Given the description of an element on the screen output the (x, y) to click on. 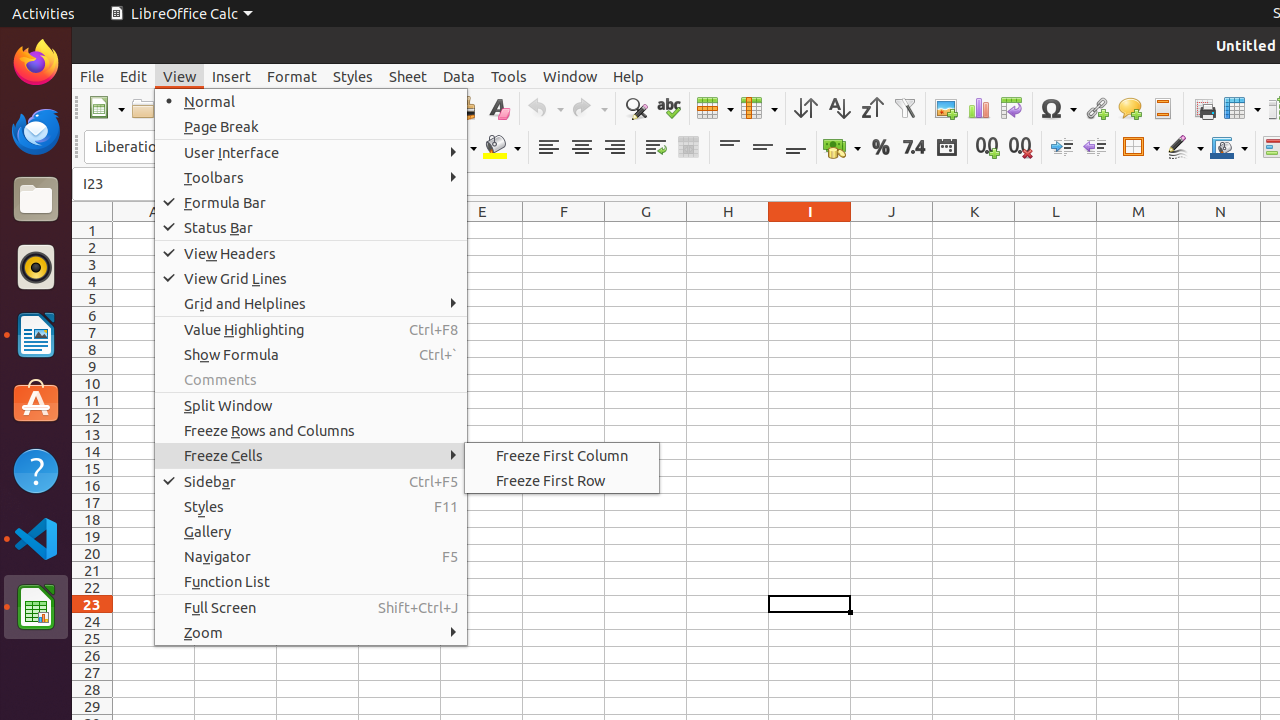
E1 Element type: table-cell (482, 230)
LibreOffice Calc Element type: menu (181, 13)
Sort Element type: push-button (805, 108)
